Given the description of an element on the screen output the (x, y) to click on. 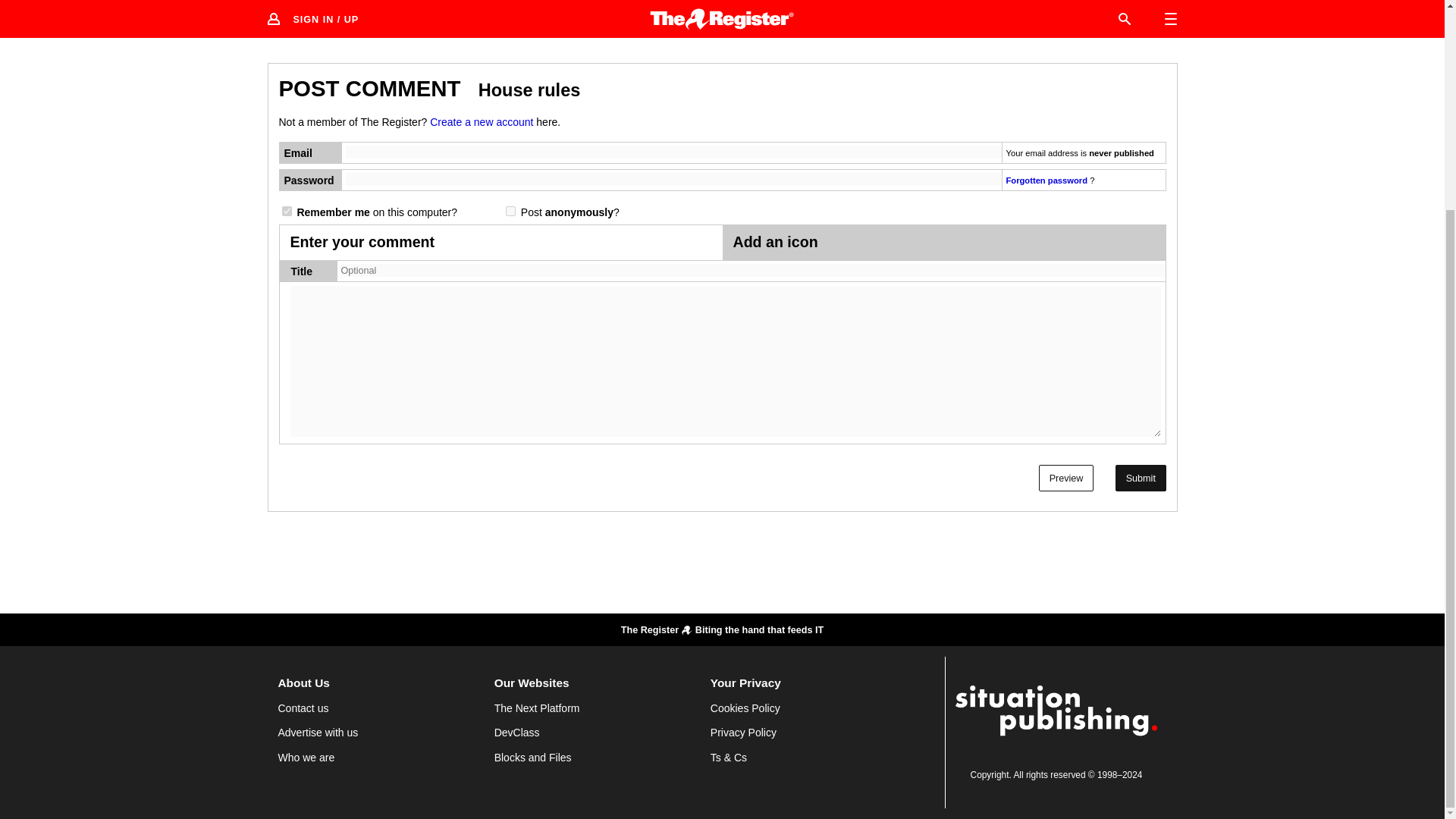
1 (287, 211)
1 (510, 211)
Submit (1140, 478)
Preview (1066, 478)
